Given the description of an element on the screen output the (x, y) to click on. 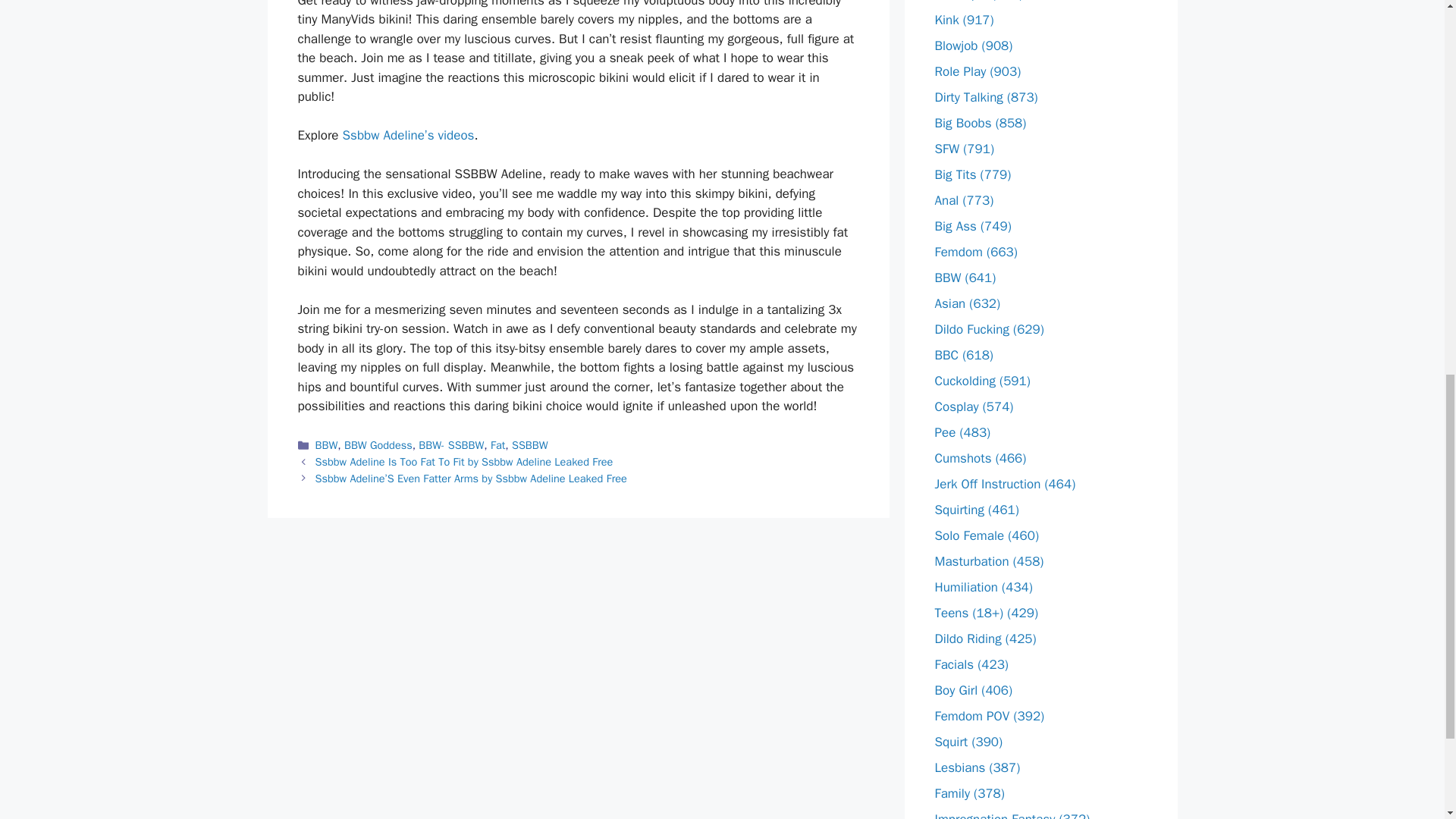
BBW (326, 445)
SSBBW (530, 445)
Fat (497, 445)
BBW- SSBBW (451, 445)
Ssbbw Adeline Is Too Fat To Fit by Ssbbw Adeline Leaked Free (463, 461)
BBW Goddess (377, 445)
